Given the description of an element on the screen output the (x, y) to click on. 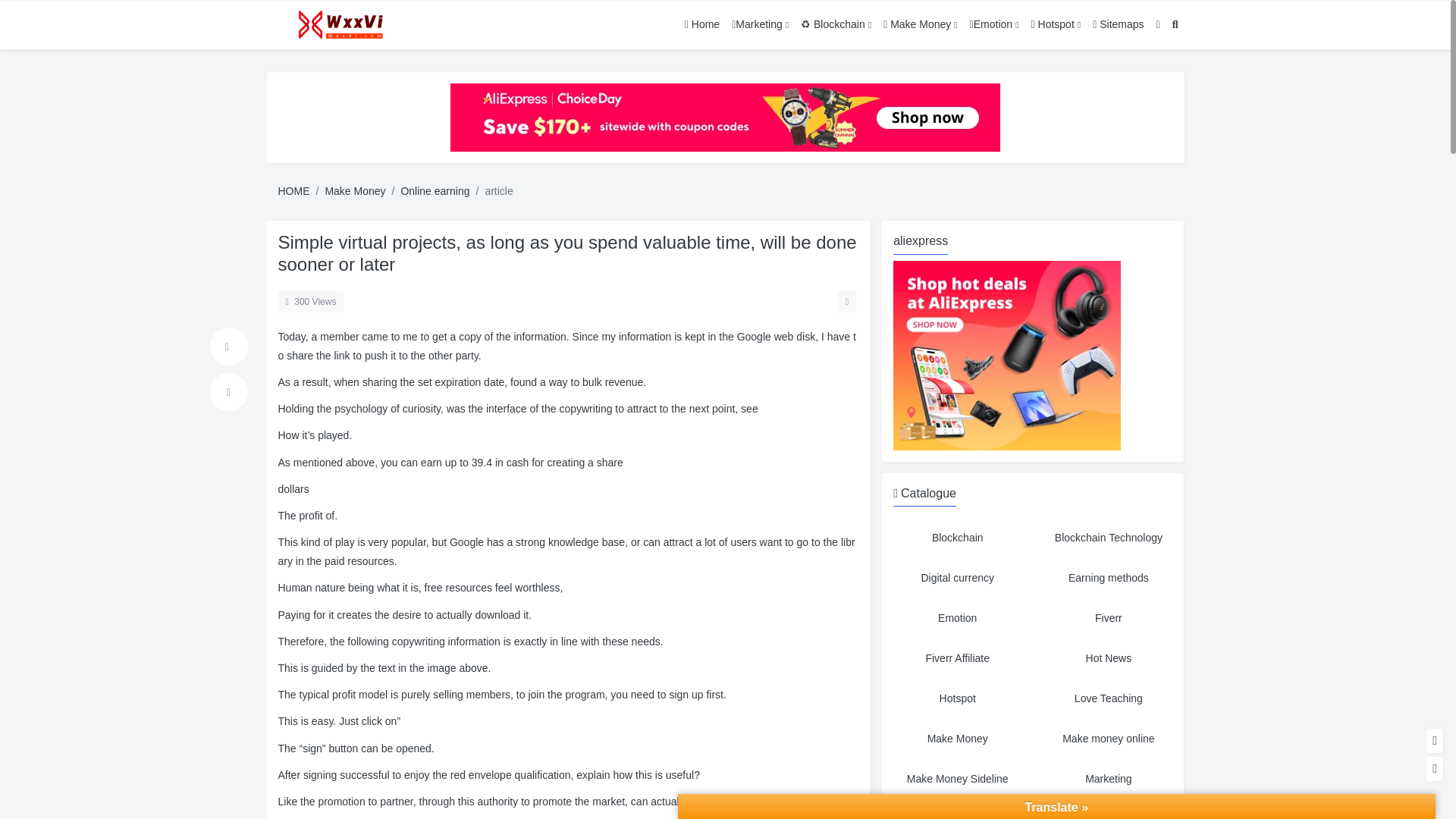
Metaverse (957, 812)
Make money online (1108, 738)
Blockchain Technology (1108, 538)
Make Money Sideline (957, 778)
Fiverr (1108, 618)
Fiverr Affiliate (957, 658)
Hotspot (957, 698)
Emotion (957, 618)
Earning methods (1108, 578)
Love Teaching (1108, 698)
Make Money (957, 738)
NFT (1108, 812)
Blockchain (957, 538)
Hot News (1108, 658)
Digital currency (957, 578)
